Given the description of an element on the screen output the (x, y) to click on. 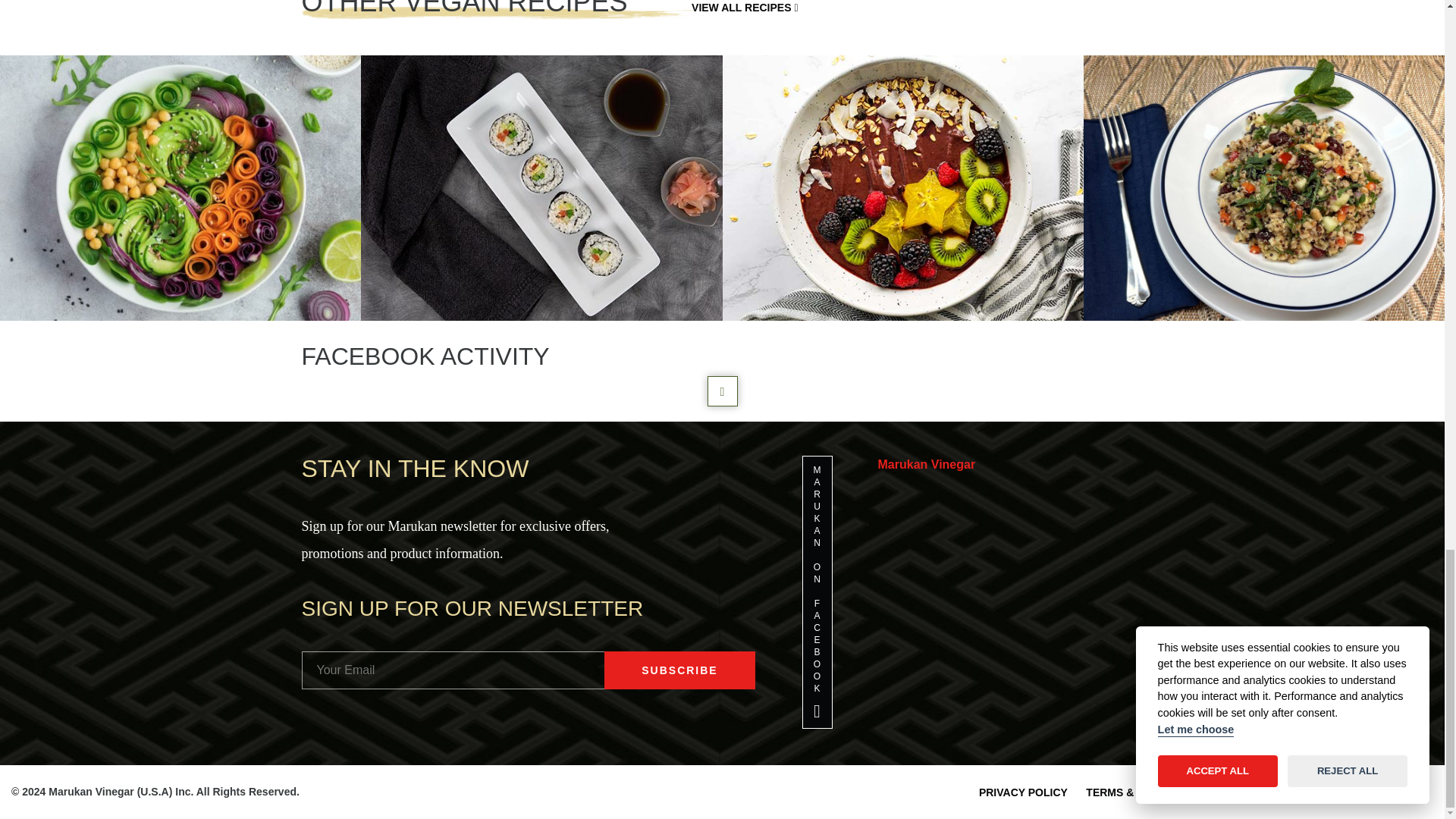
Subscribe (679, 670)
